Given the description of an element on the screen output the (x, y) to click on. 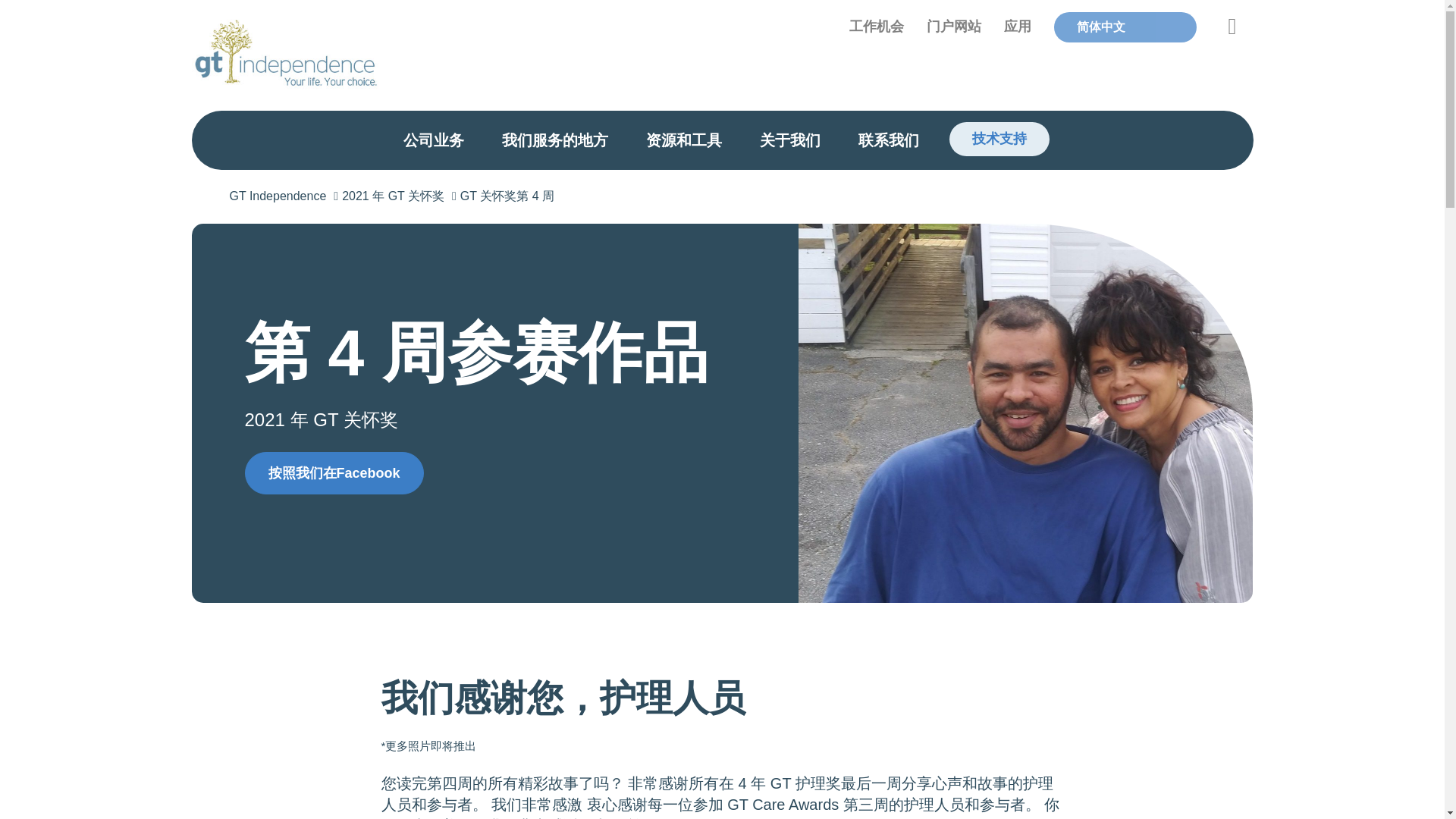
GT Independence (285, 195)
